Given the description of an element on the screen output the (x, y) to click on. 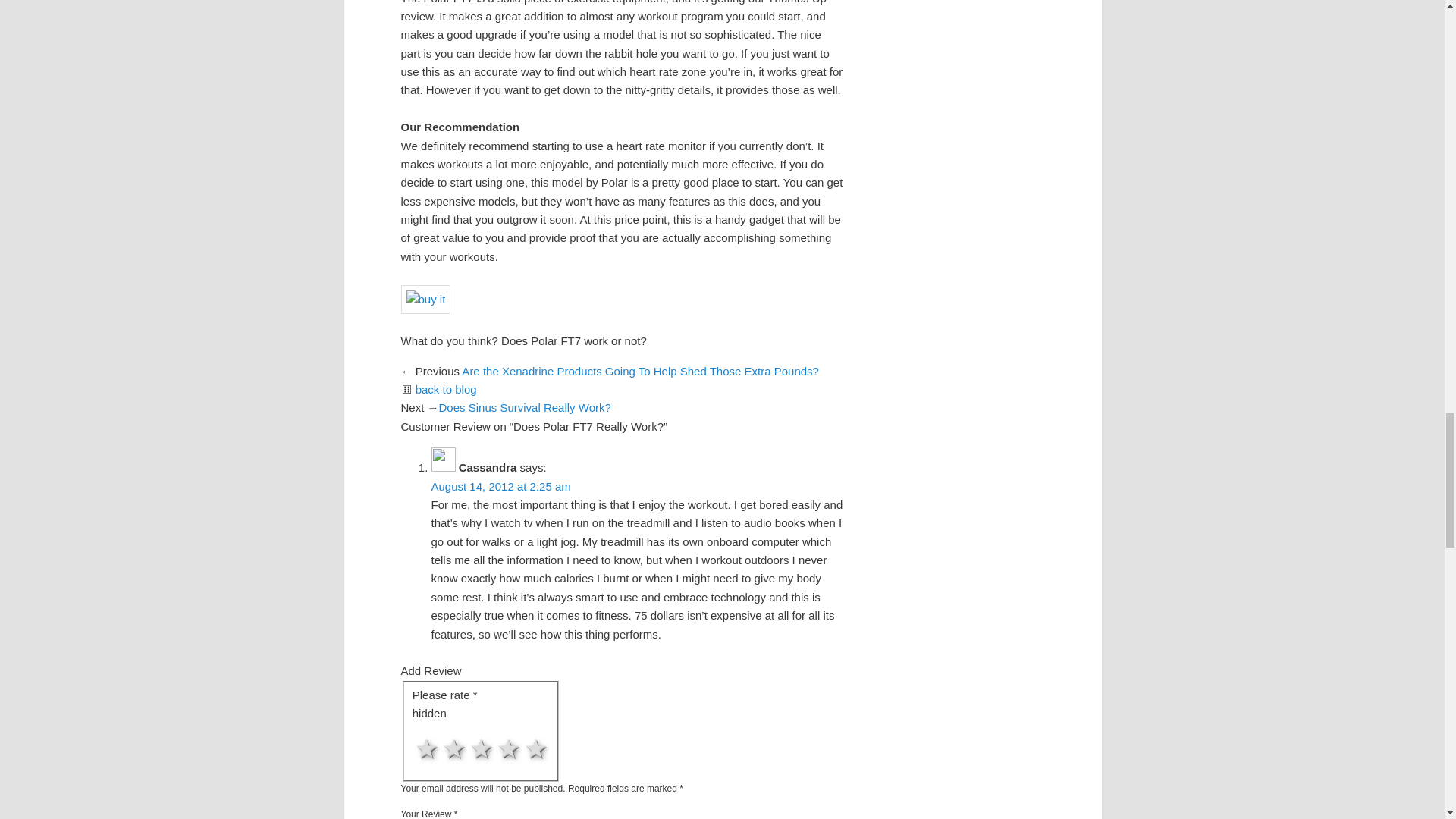
4 (421, 730)
3 (421, 730)
back to blog (445, 389)
Does Sinus Survival Really Work? (525, 407)
buy it (424, 299)
2 (421, 730)
1 (421, 730)
August 14, 2012 at 2:25 am (500, 486)
5 (421, 730)
